Given the description of an element on the screen output the (x, y) to click on. 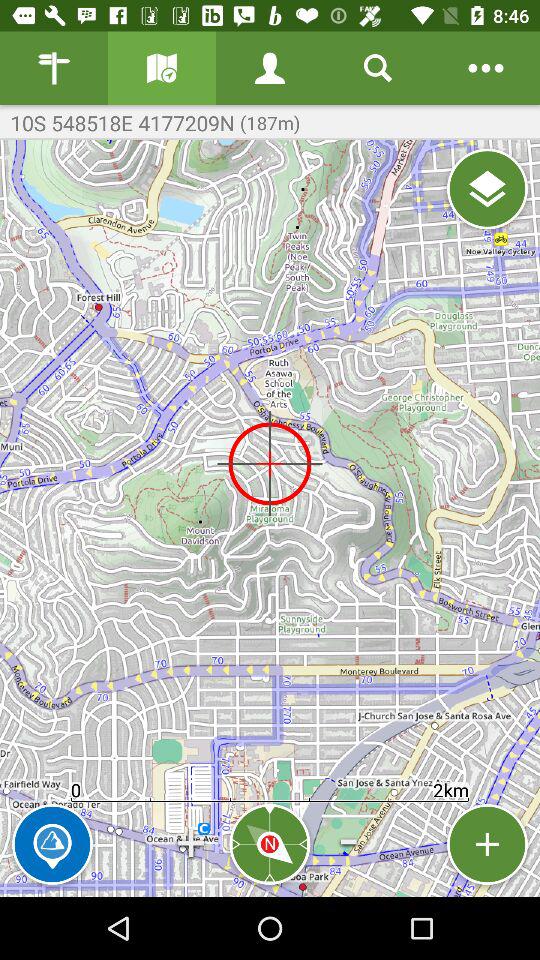
information gallery (162, 68)
